Given the description of an element on the screen output the (x, y) to click on. 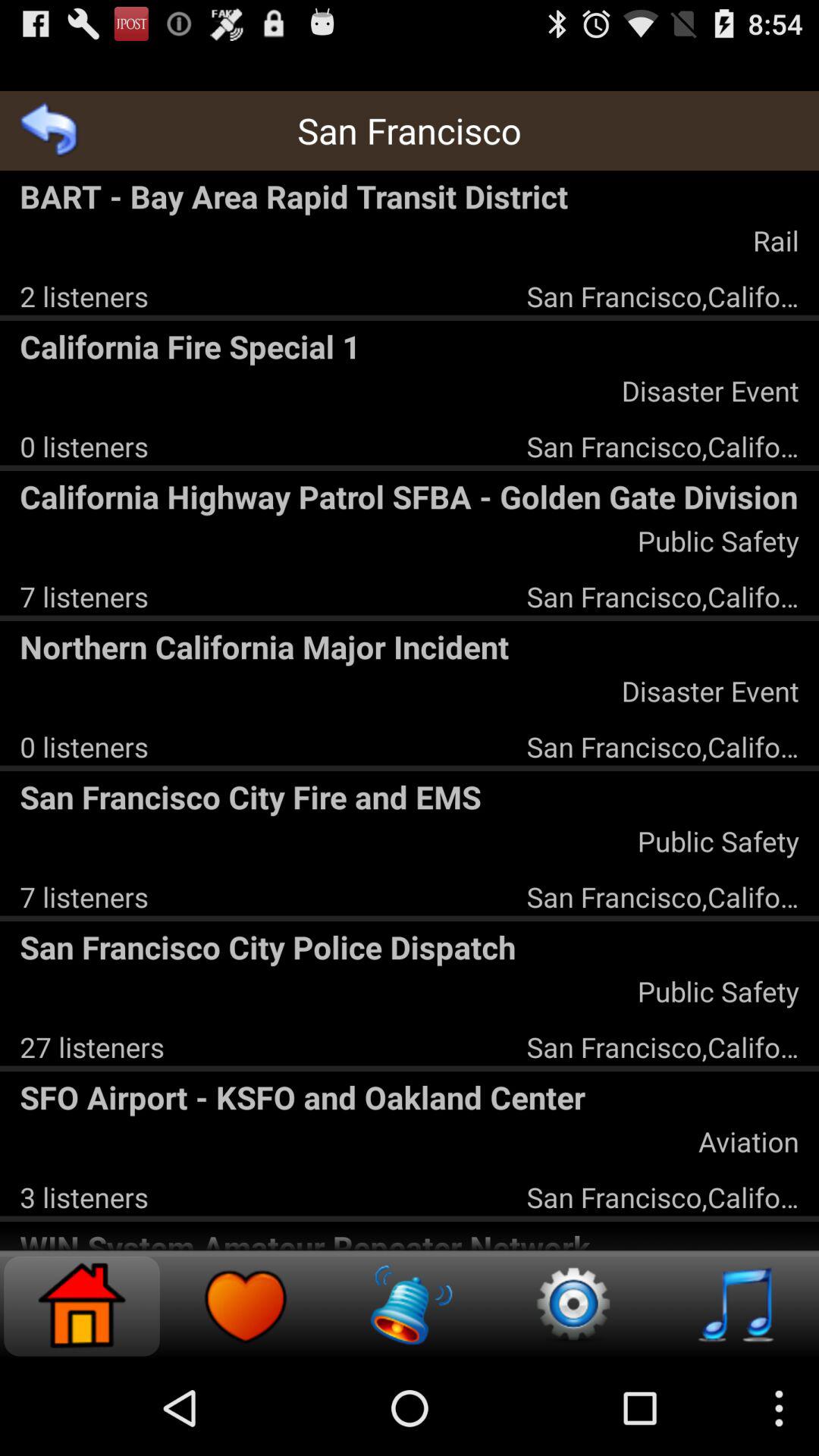
tap item next to the san francisco,california item (83, 296)
